Given the description of an element on the screen output the (x, y) to click on. 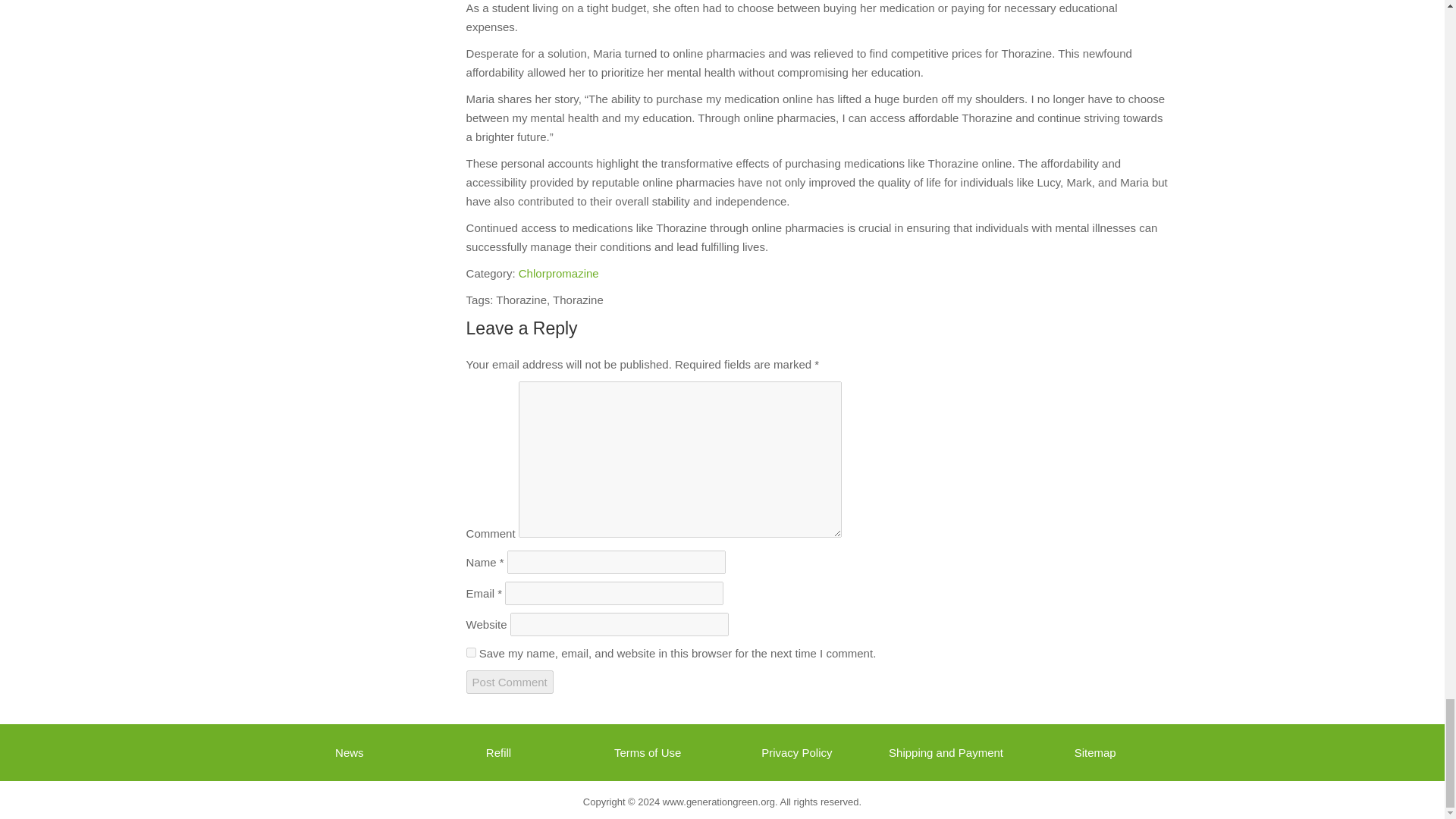
yes (470, 652)
Post Comment (509, 681)
Post Comment (509, 681)
Chlorpromazine (558, 273)
